Given the description of an element on the screen output the (x, y) to click on. 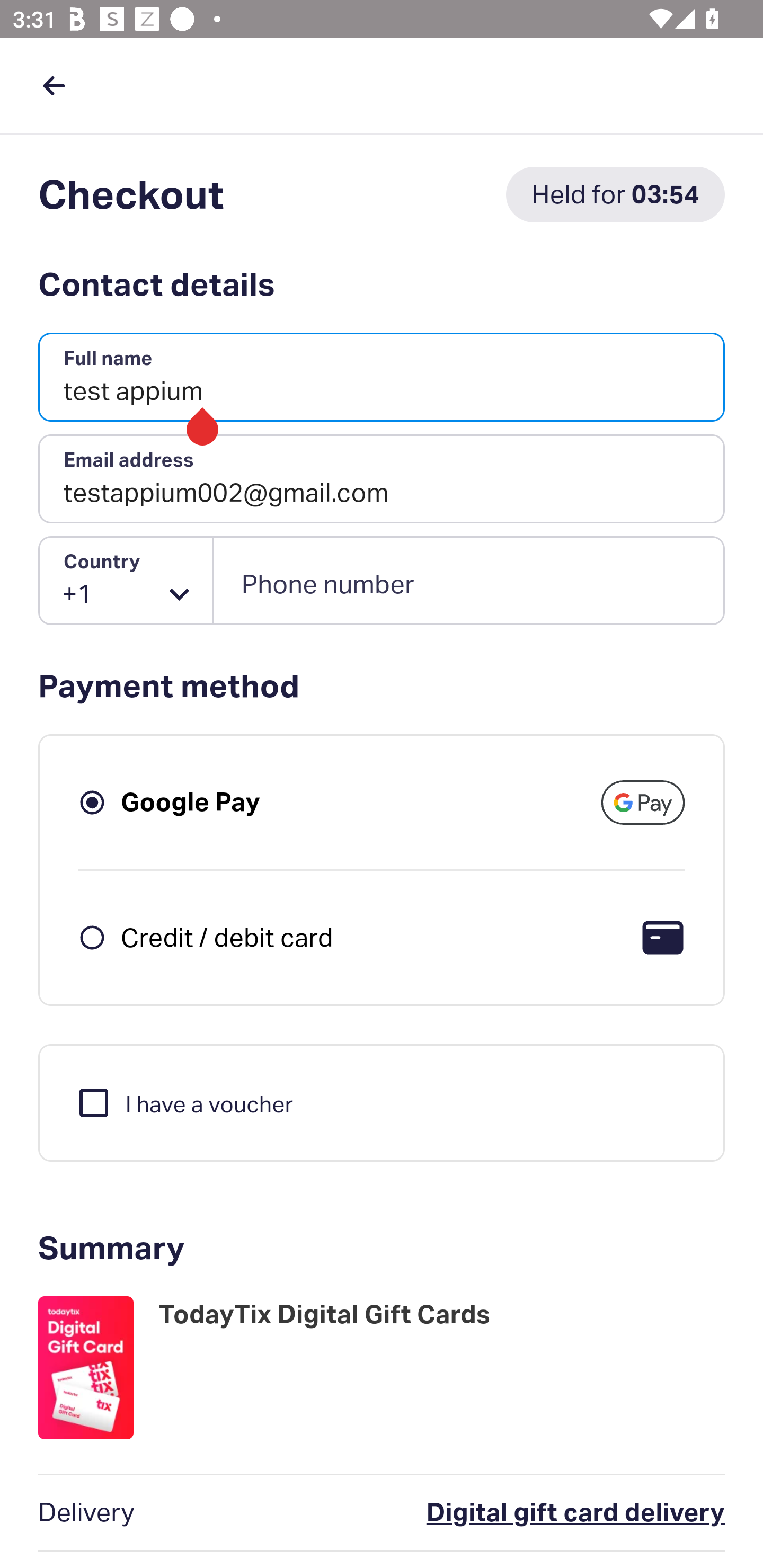
back button (53, 85)
test appium (381, 377)
testappium002@gmail.com (381, 478)
  +1 (126, 580)
Google Pay (190, 802)
Credit / debit card (227, 936)
I have a voucher (183, 1101)
Digital gift card delivery (495, 1512)
